Given the description of an element on the screen output the (x, y) to click on. 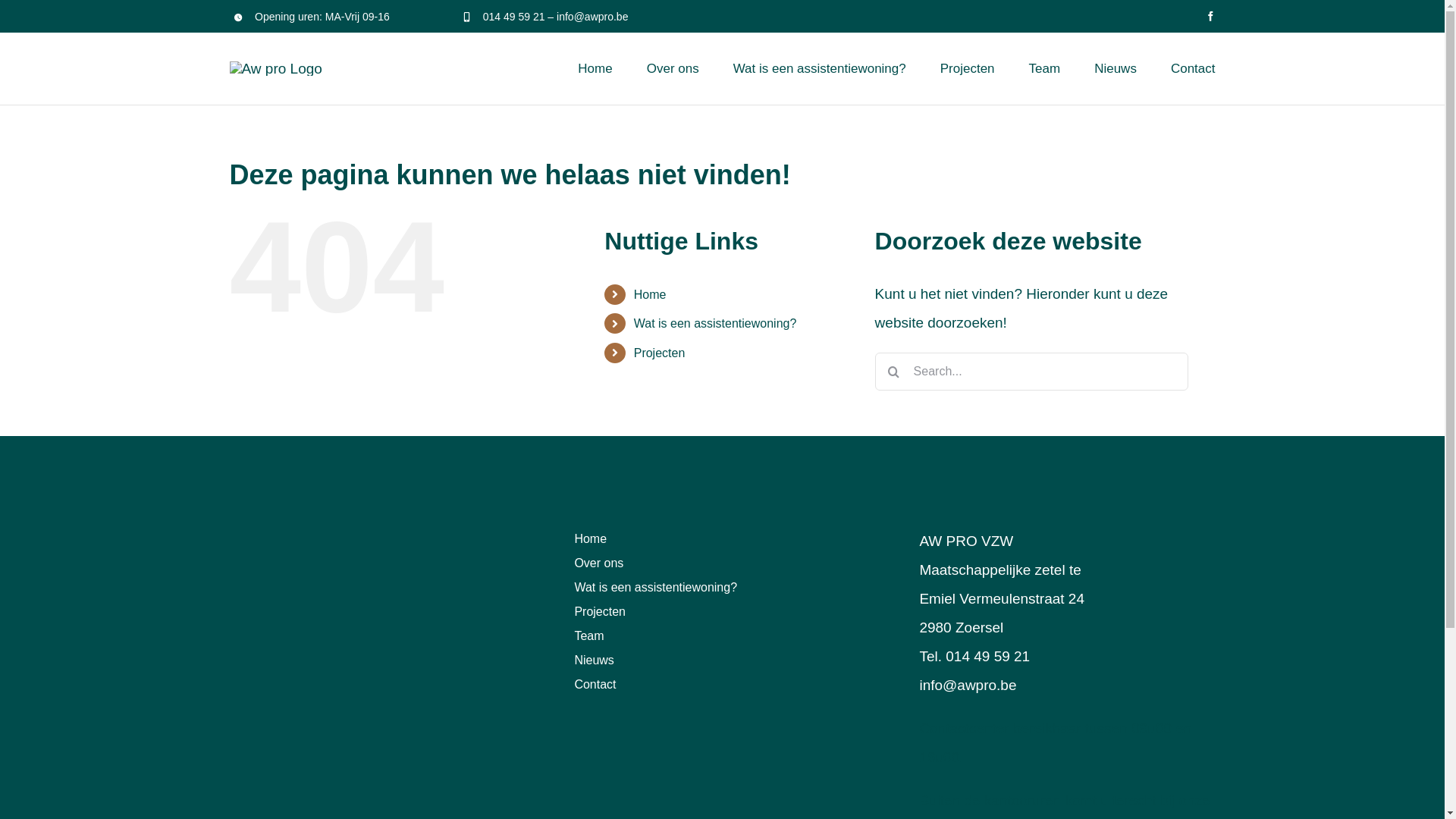
Projecten Element type: text (721, 611)
014 49 59 21 Element type: text (514, 16)
Over ons Element type: text (672, 68)
Contact Element type: text (721, 684)
Home Element type: text (594, 68)
Facebook Element type: hover (1210, 16)
Wat is een assistentiewoning? Element type: text (715, 322)
Over ons Element type: text (721, 563)
Contact Element type: text (1192, 68)
Nieuws Element type: text (721, 660)
info@awpro.be Element type: text (591, 16)
Projecten Element type: text (659, 352)
Home Element type: text (721, 539)
info@awpro.be Element type: text (967, 685)
Wat is een assistentiewoning? Element type: text (721, 587)
Team Element type: text (721, 636)
Projecten Element type: text (967, 68)
Wat is een assistentiewoning? Element type: text (819, 68)
Team Element type: text (1044, 68)
Home Element type: text (649, 294)
Nieuws Element type: text (1115, 68)
